Given the description of an element on the screen output the (x, y) to click on. 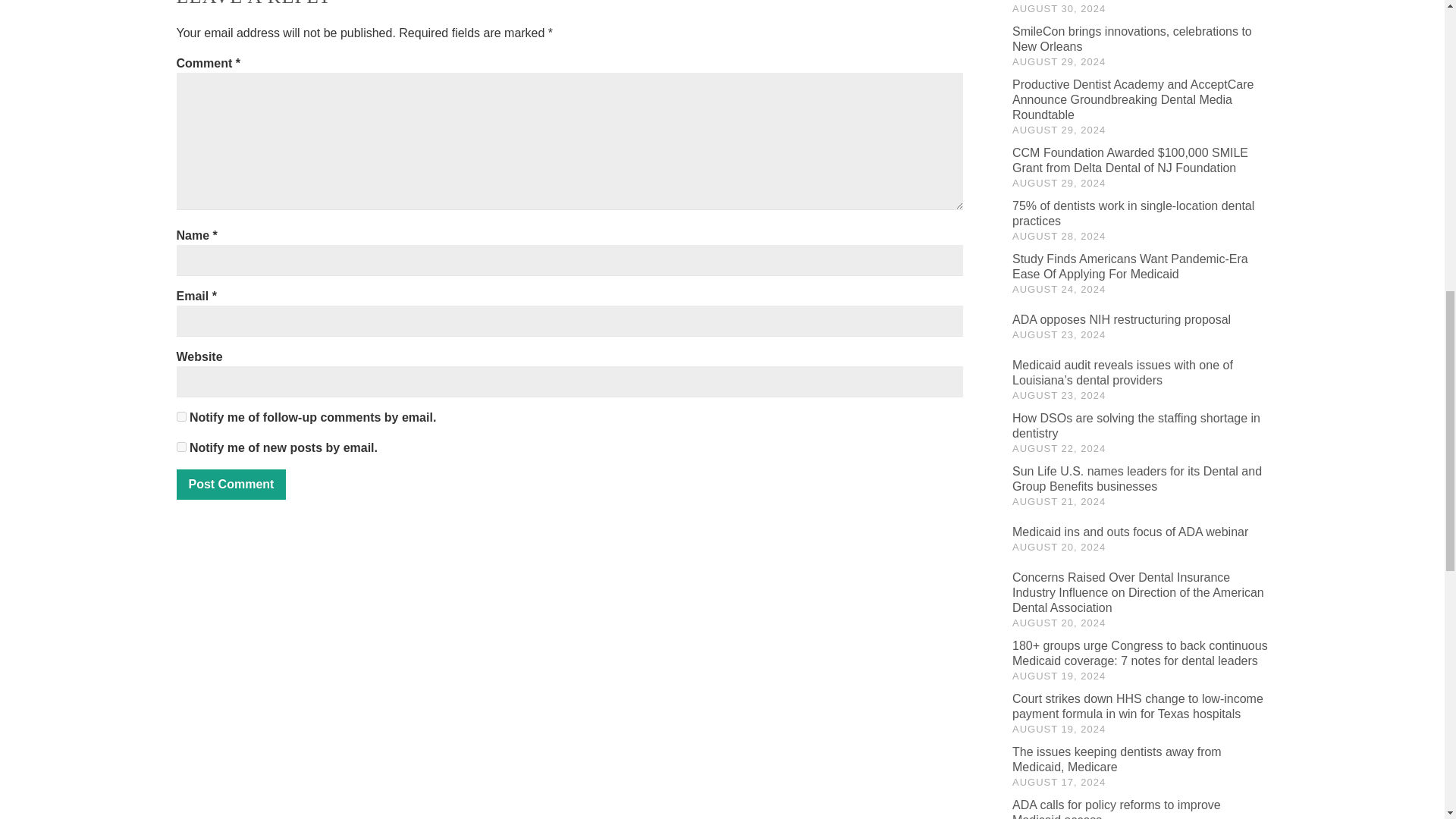
subscribe (181, 416)
Post Comment (230, 484)
subscribe (181, 447)
